Given the description of an element on the screen output the (x, y) to click on. 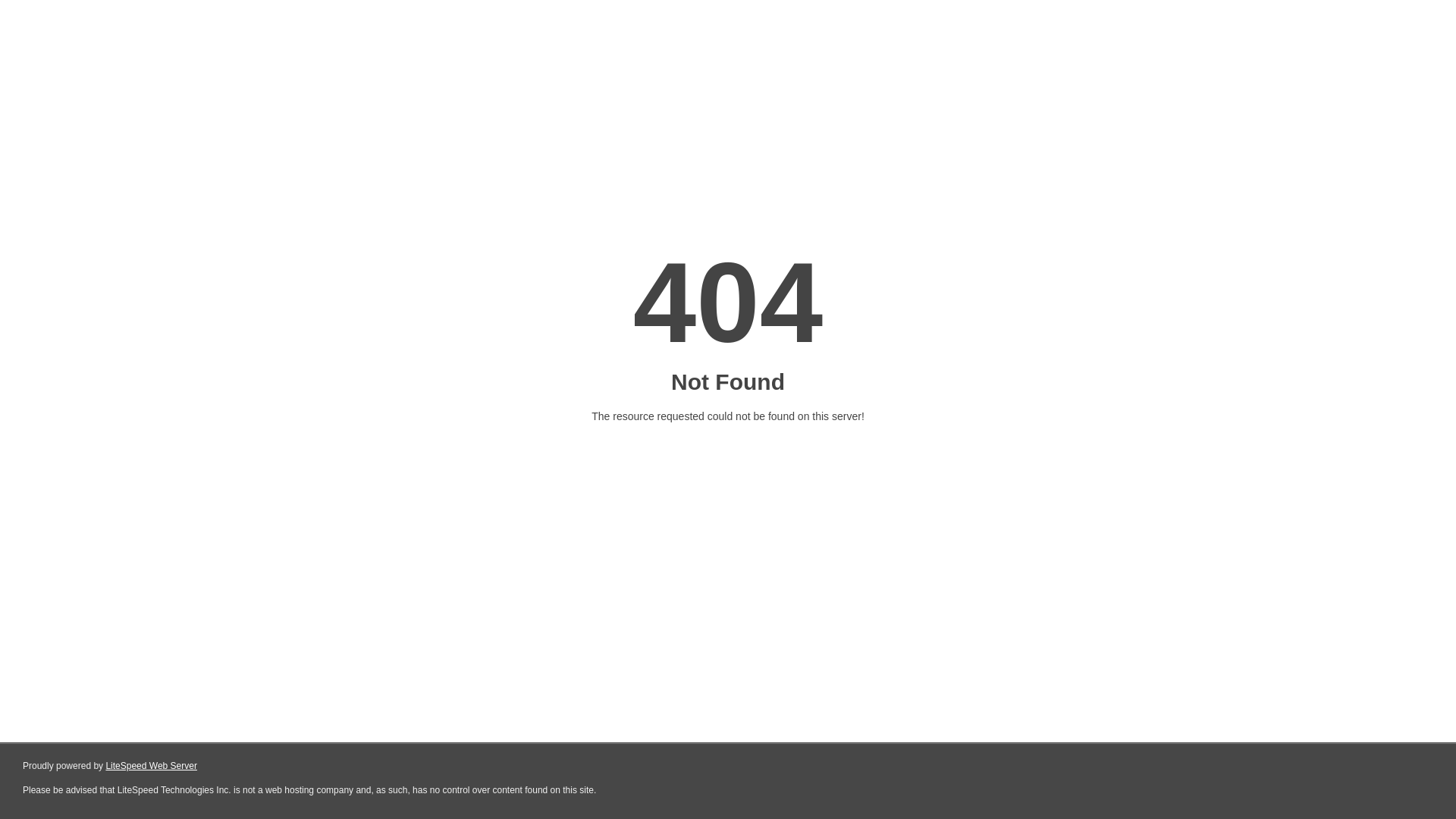
LiteSpeed Web Server Element type: text (151, 765)
